Given the description of an element on the screen output the (x, y) to click on. 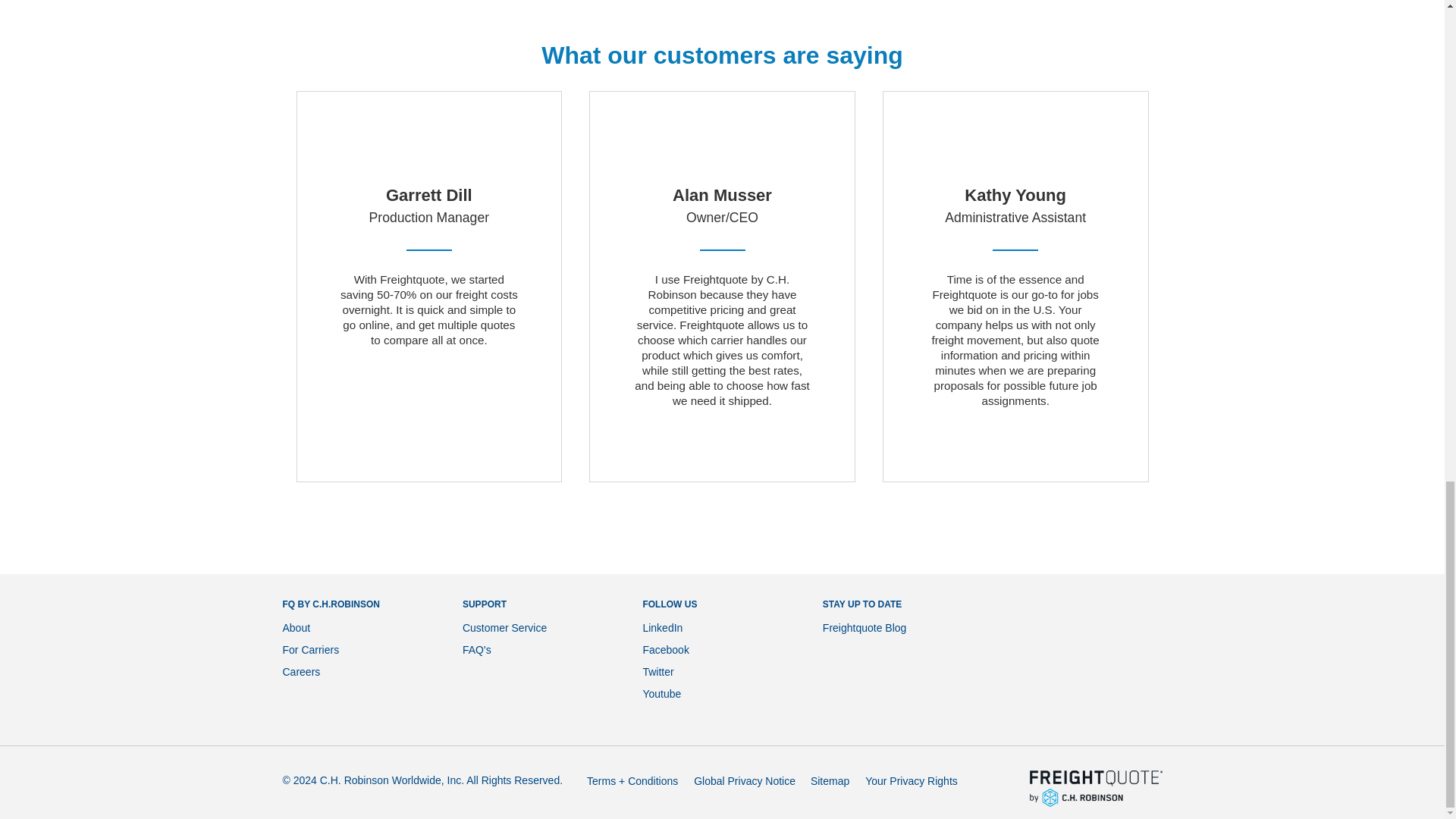
Customer Service (505, 627)
About (296, 627)
About (296, 627)
